Given the description of an element on the screen output the (x, y) to click on. 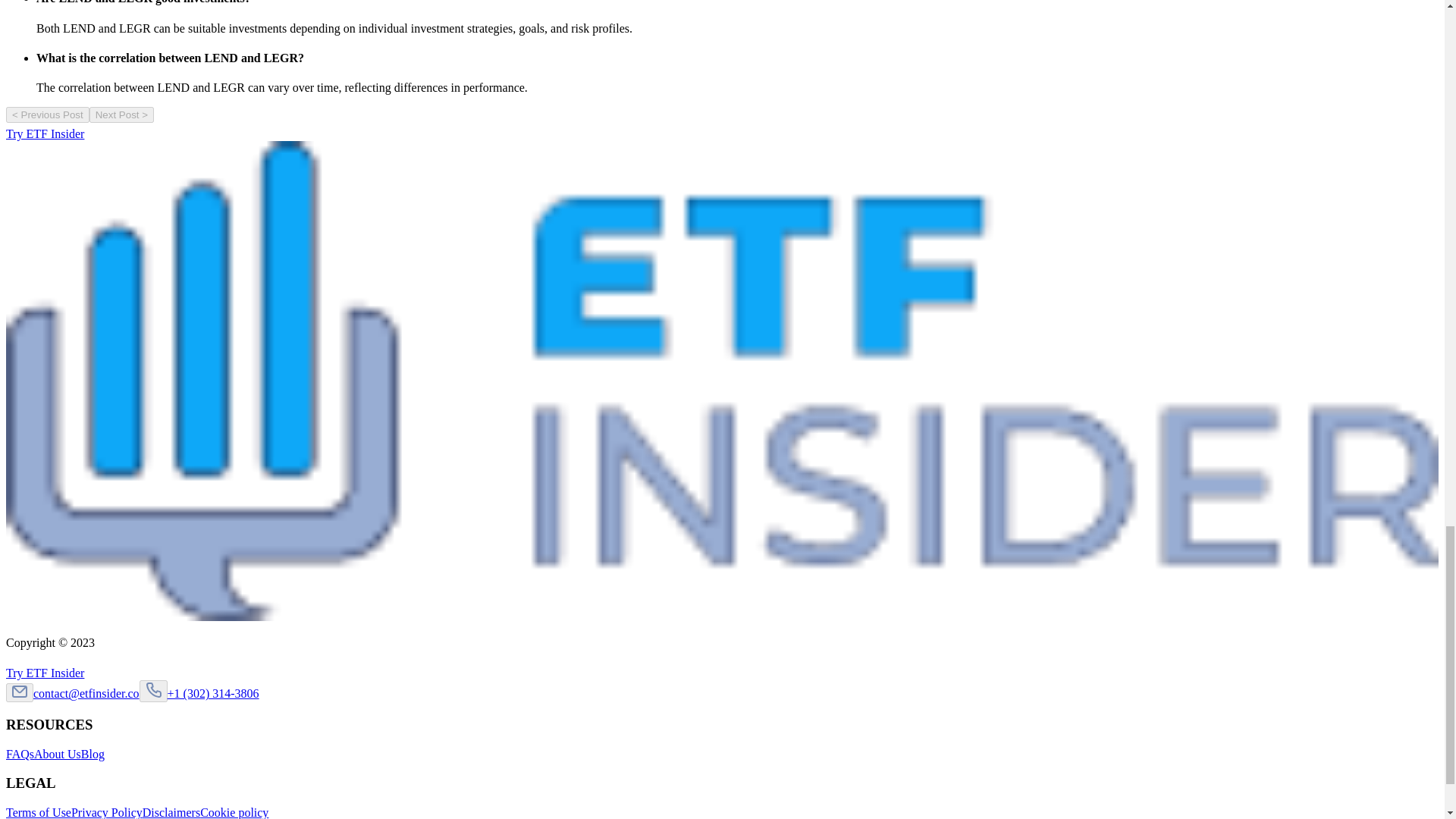
Try ETF Insider (52, 133)
About Us (57, 753)
Try ETF Insider (52, 672)
FAQs (19, 753)
Privacy Policy (106, 812)
Blog (92, 753)
Disclaimers (171, 812)
Cookie policy (233, 812)
Terms of Use (38, 812)
